Given the description of an element on the screen output the (x, y) to click on. 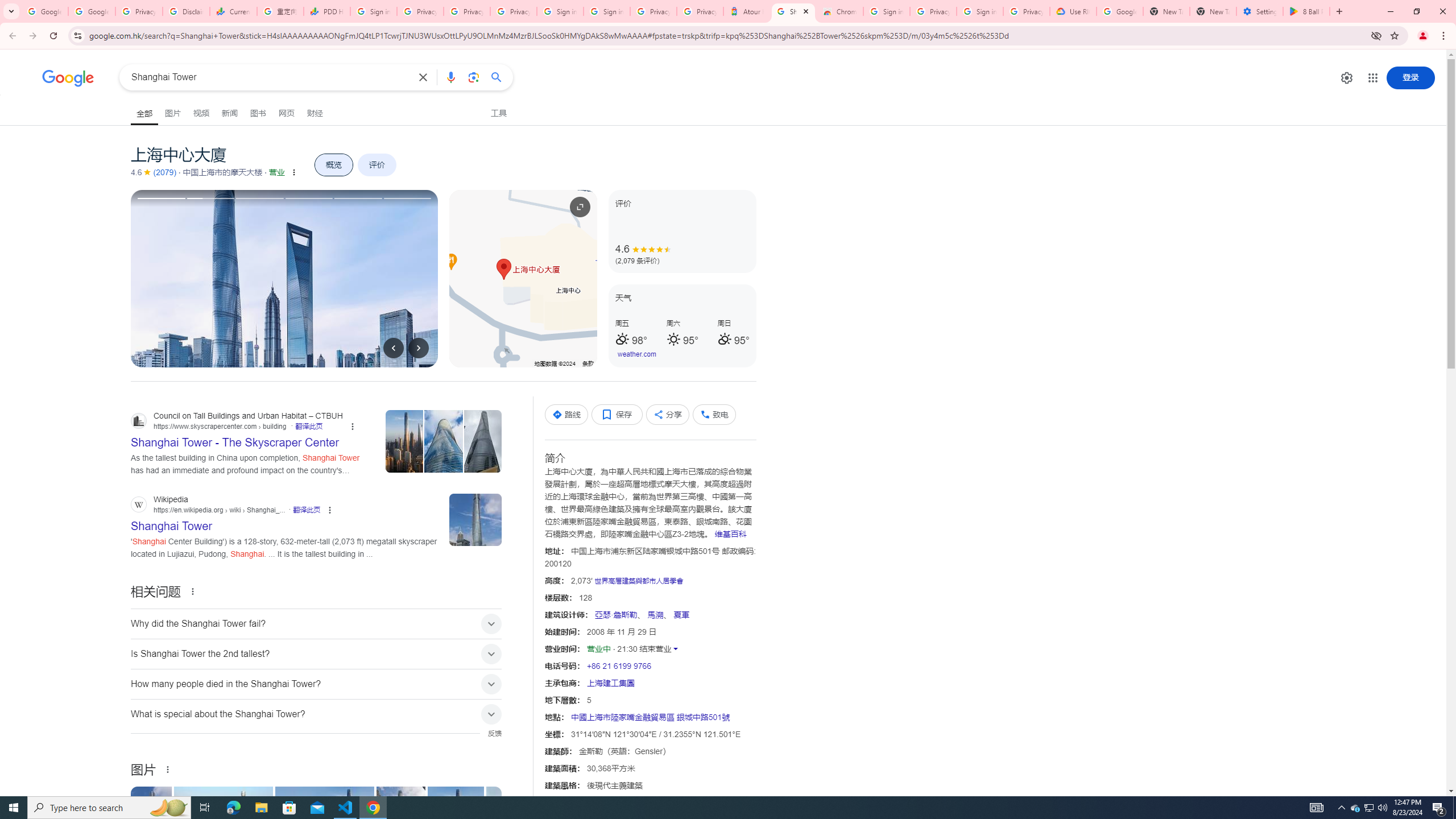
Google Workspace Admin Community (44, 11)
Sign in - Google Accounts (980, 11)
Currencies - Google Finance (233, 11)
Why did the Shanghai Tower fail? (316, 623)
